Given the description of an element on the screen output the (x, y) to click on. 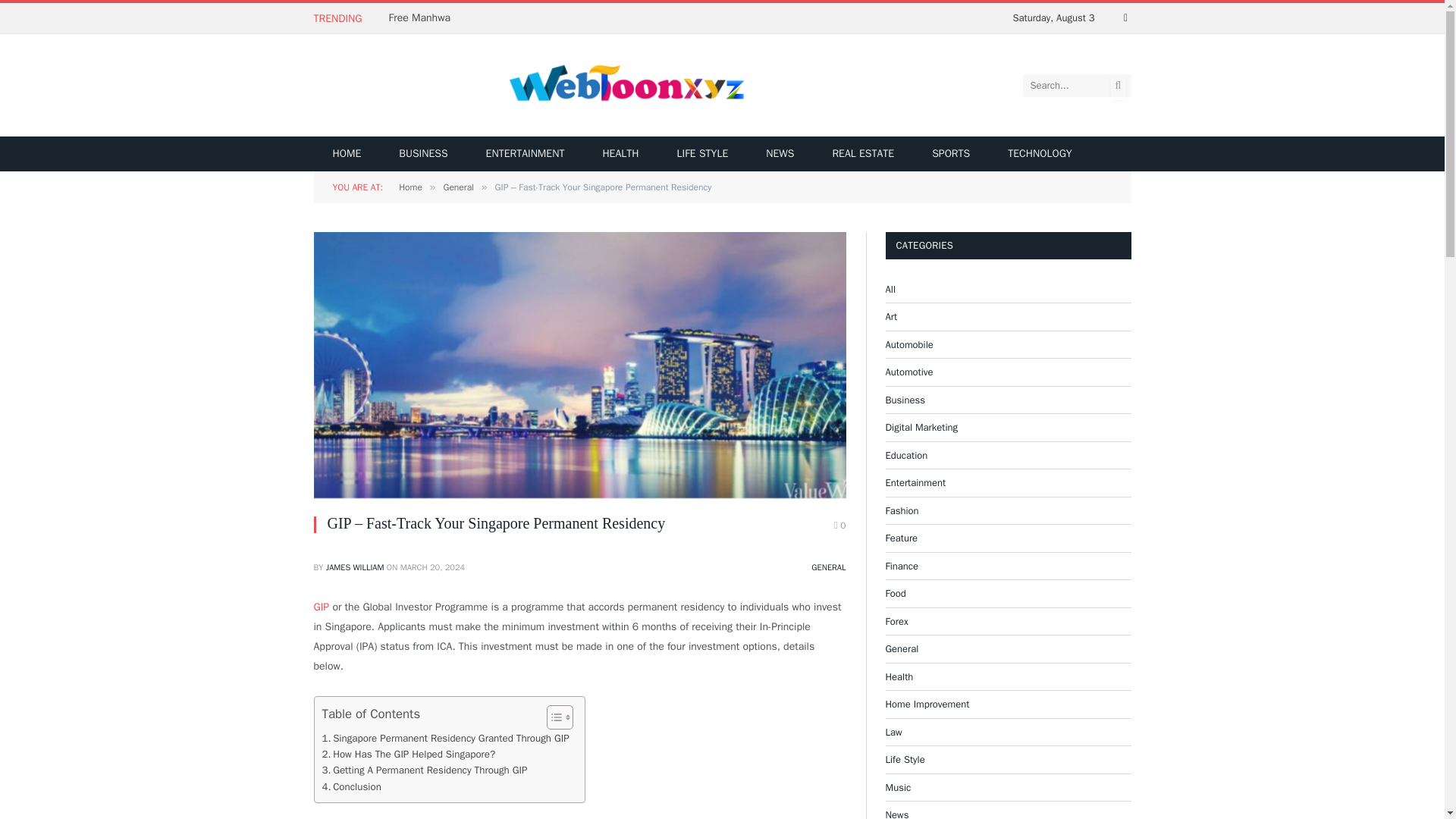
2024-03-20 (432, 566)
General (458, 186)
REAL ESTATE (862, 153)
HOME (347, 153)
Conclusion (350, 786)
Home (410, 186)
TECHNOLOGY (1039, 153)
BUSINESS (422, 153)
How Has The GIP Helped Singapore? (408, 754)
Singapore Permanent Residency Granted Through GIP (445, 738)
Getting A Permanent Residency Through GIP (424, 770)
ENTERTAINMENT (525, 153)
Posts by James William (355, 566)
NEWS (779, 153)
Free Manhwa (423, 18)
